Given the description of an element on the screen output the (x, y) to click on. 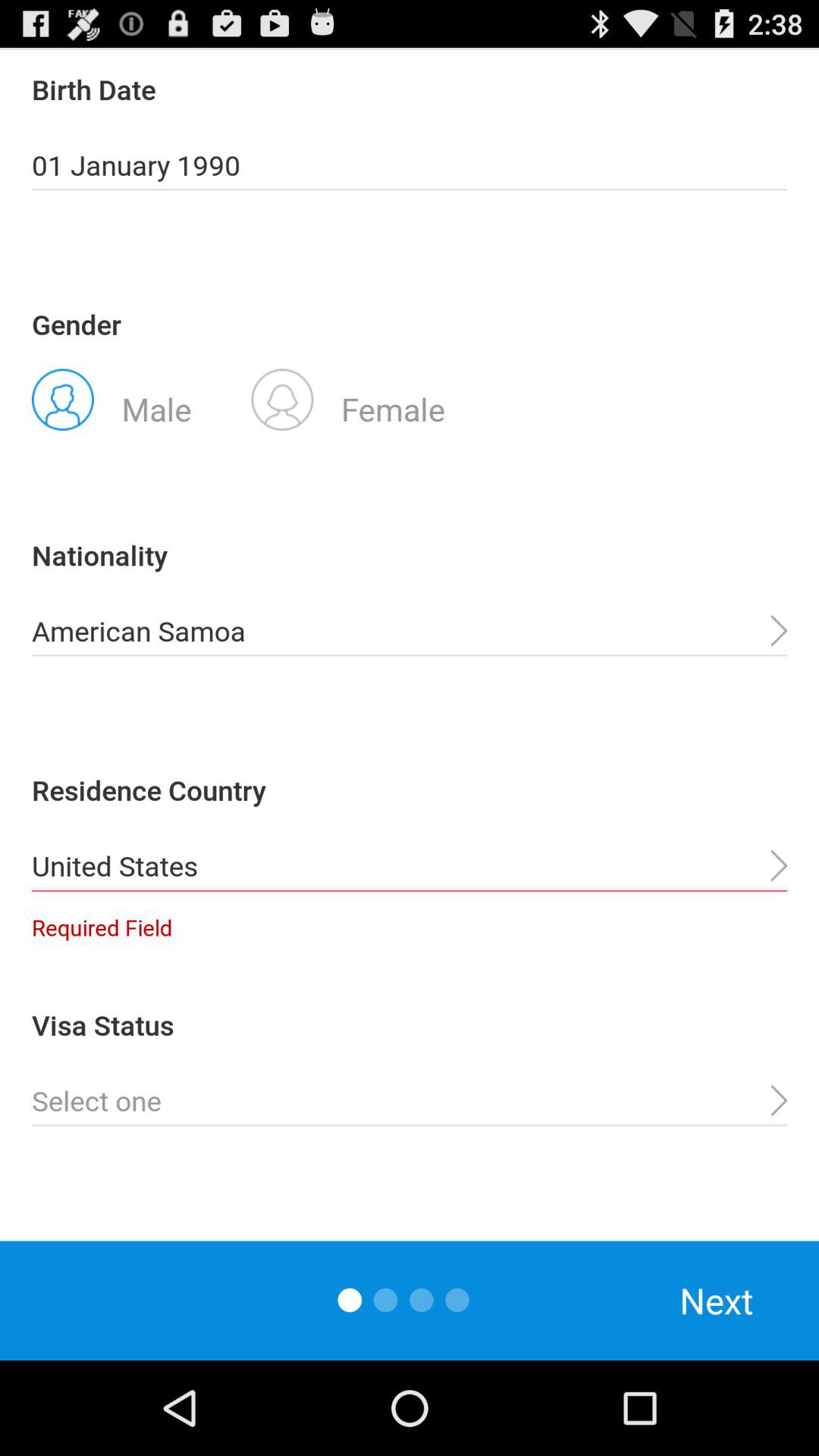
turn on radio button next to male icon (348, 398)
